Given the description of an element on the screen output the (x, y) to click on. 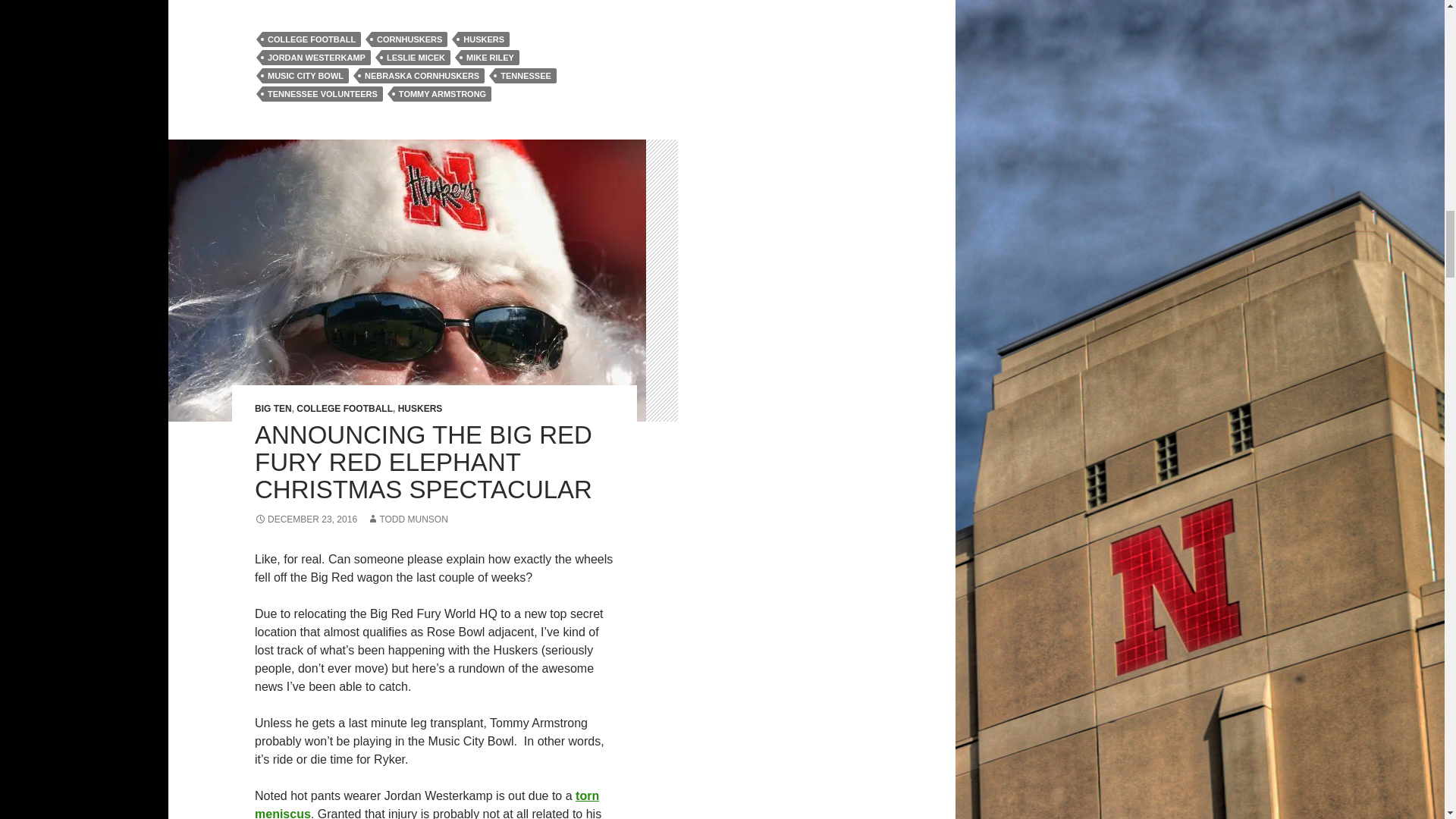
HUSKERS (419, 408)
torn meniscus (426, 804)
DECEMBER 23, 2016 (305, 519)
BIG TEN (273, 408)
COLLEGE FOOTBALL (345, 408)
MIKE RILEY (490, 57)
TENNESSEE (525, 75)
TENNESSEE VOLUNTEERS (322, 93)
TODD MUNSON (406, 519)
LESLIE MICEK (415, 57)
